Given the description of an element on the screen output the (x, y) to click on. 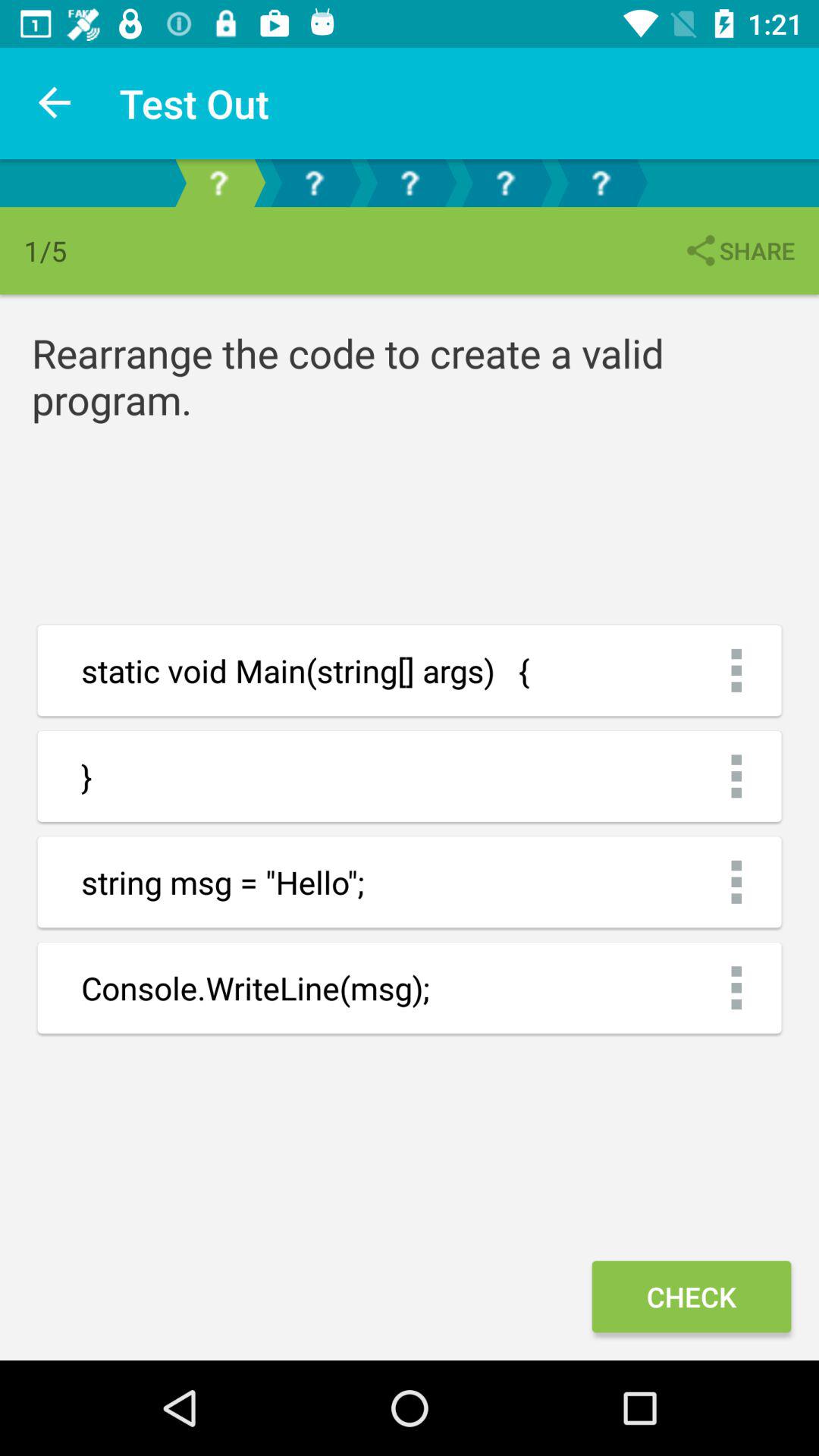
third page (409, 183)
